Given the description of an element on the screen output the (x, y) to click on. 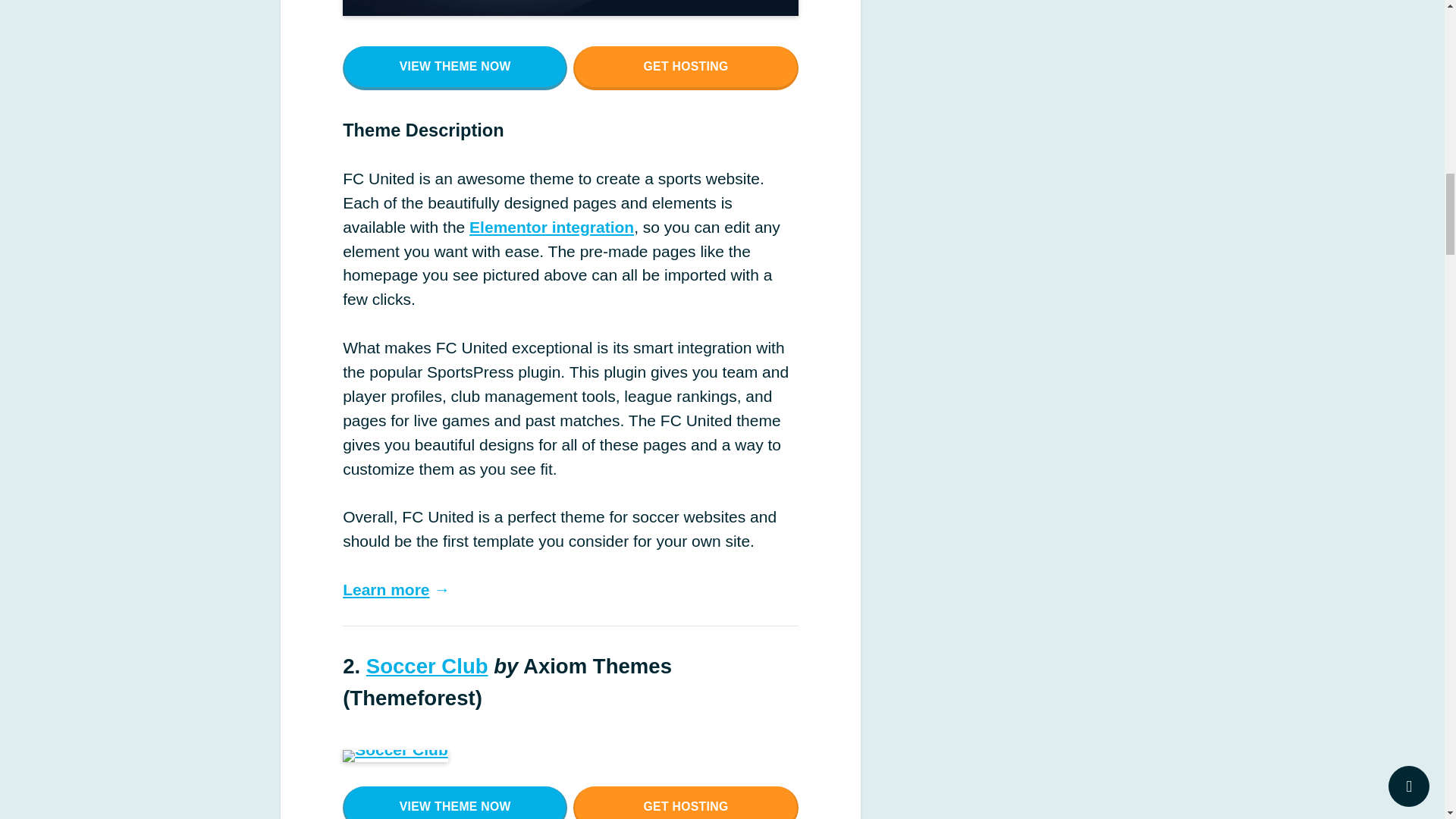
GET HOSTING (685, 802)
VIEW THEME NOW (454, 67)
GET HOSTING (685, 67)
VIEW THEME NOW (454, 802)
Soccer Club (426, 666)
Elementor integration (550, 226)
